Given the description of an element on the screen output the (x, y) to click on. 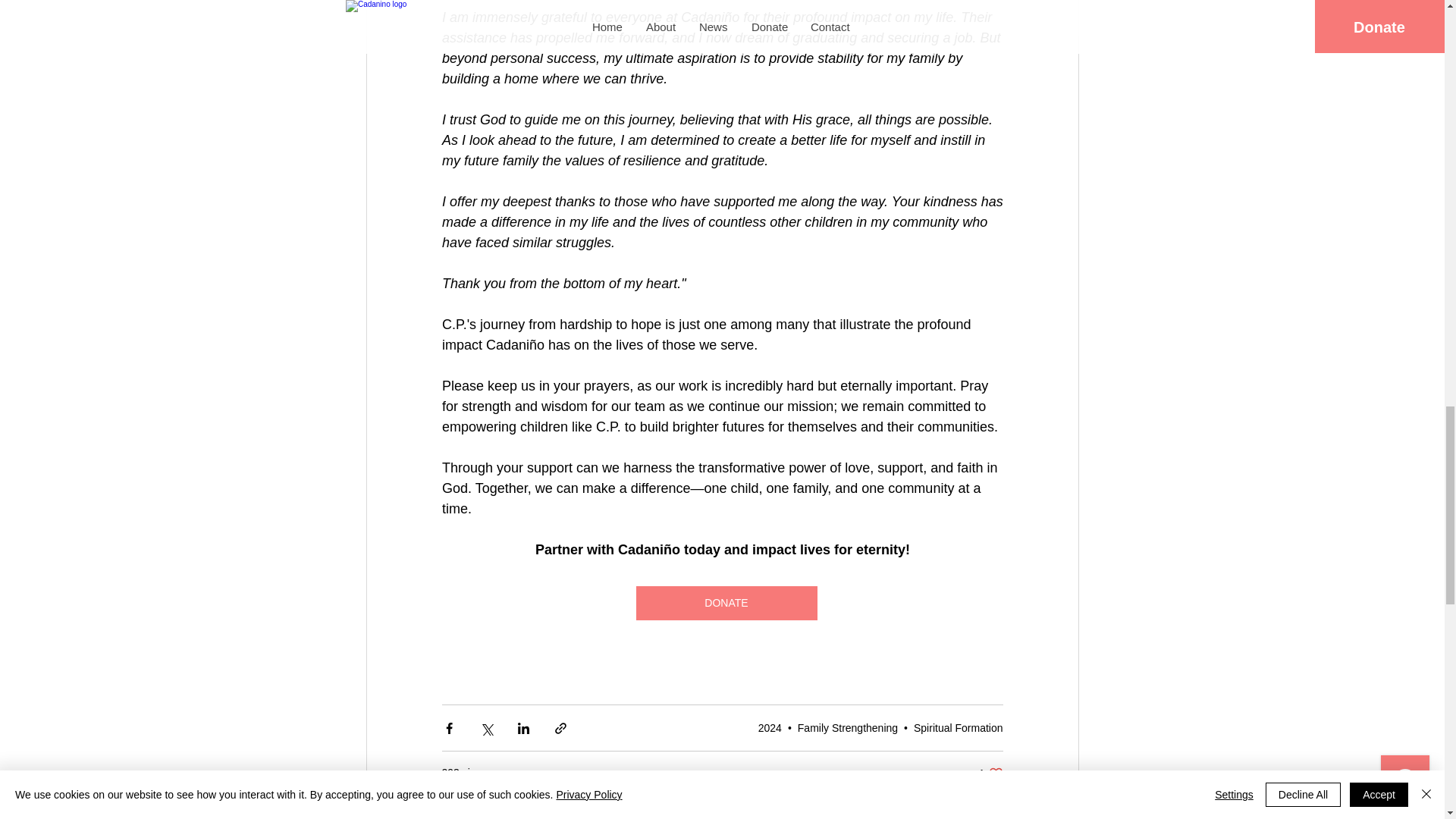
DONATE (725, 602)
Family Strengthening (847, 727)
2024 (769, 727)
Spiritual Formation (990, 772)
